Given the description of an element on the screen output the (x, y) to click on. 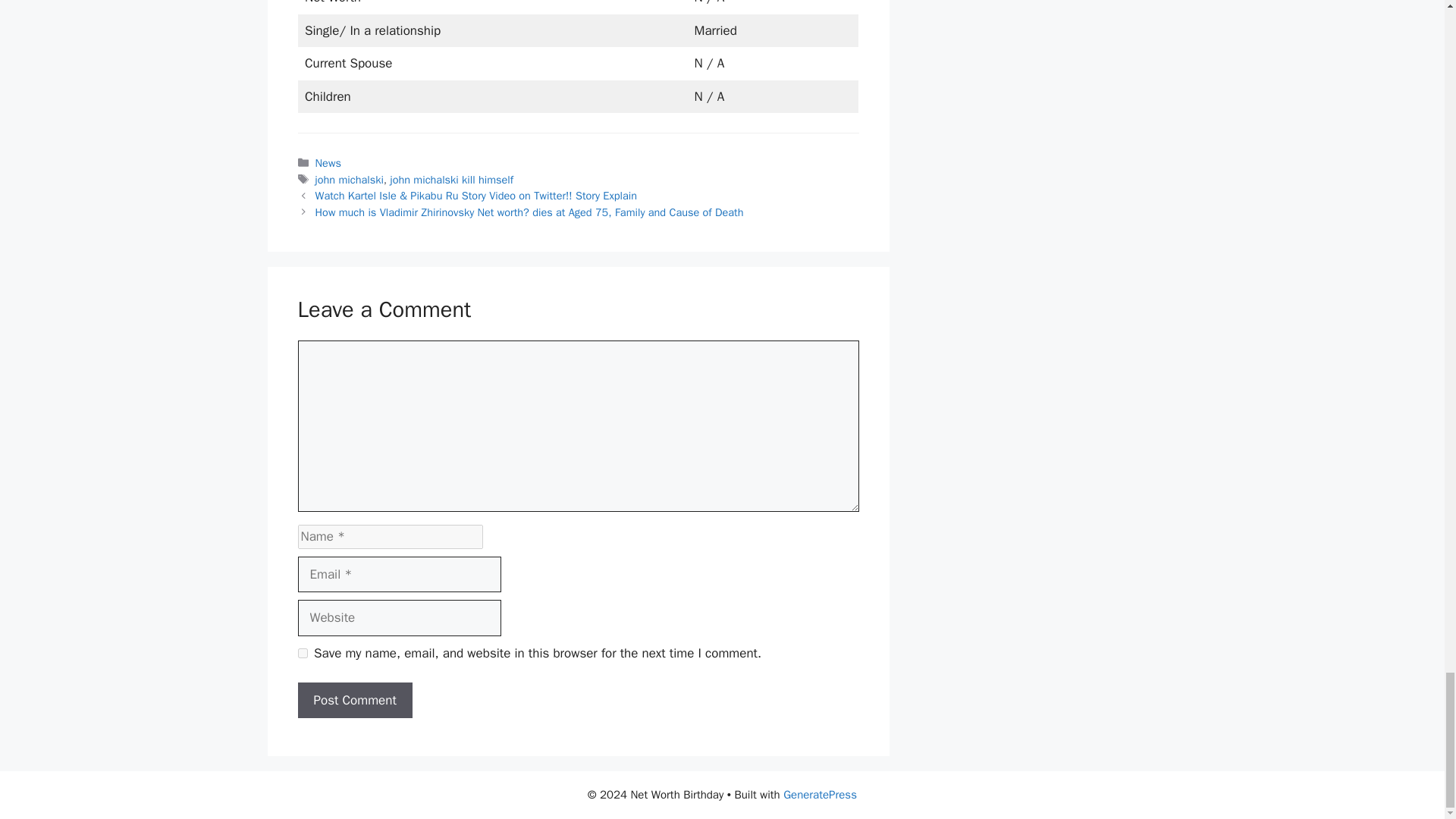
Post Comment (354, 700)
News (327, 162)
john michalski (349, 179)
yes (302, 653)
john michalski kill himself (451, 179)
Post Comment (354, 700)
